Given the description of an element on the screen output the (x, y) to click on. 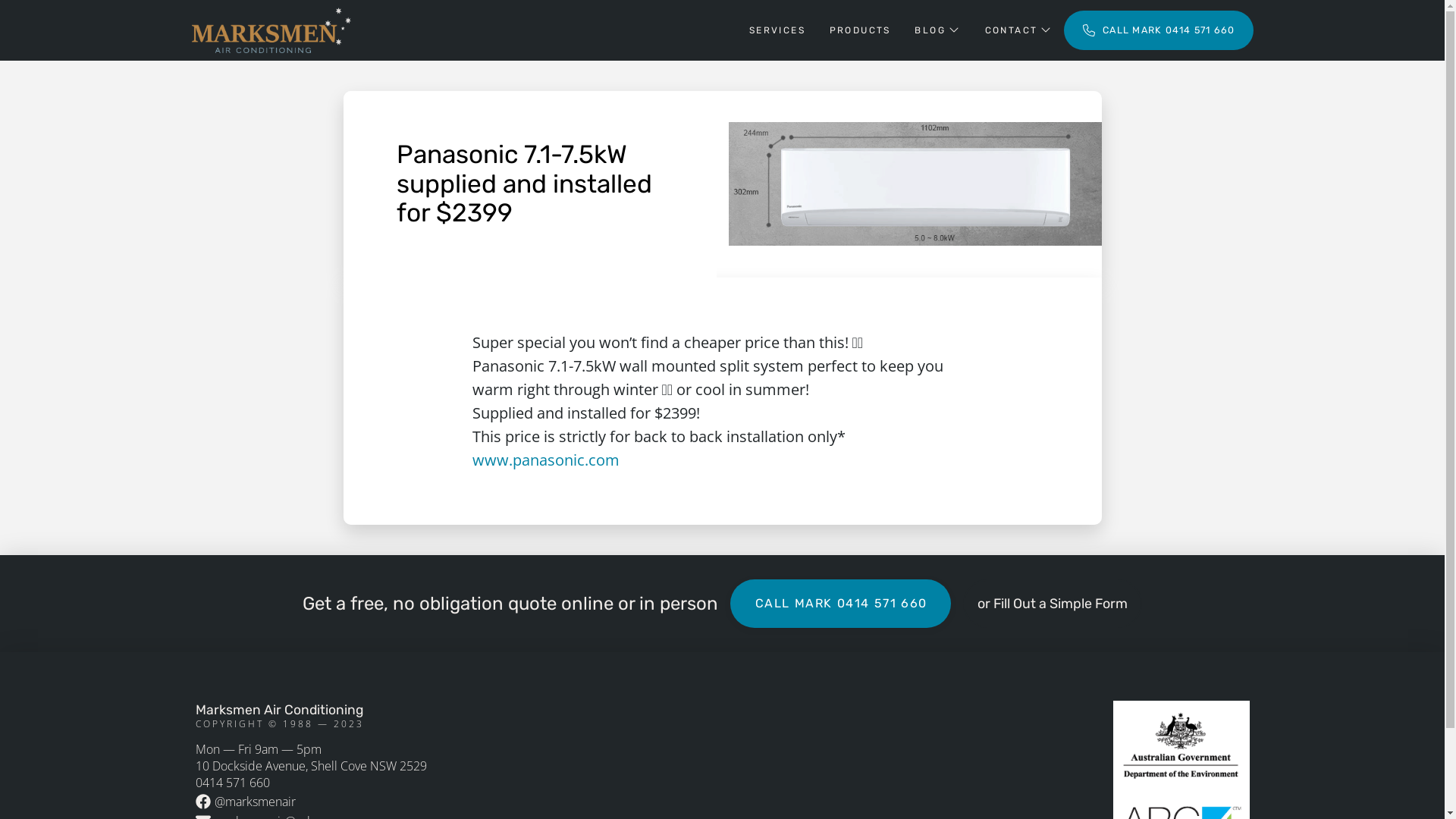
BLOG Element type: text (936, 30)
CALL MARK 0414 571 660 Element type: text (1157, 30)
PRODUCTS Element type: text (859, 30)
CONTACT Element type: text (1017, 30)
www.panasonic.com Element type: text (544, 459)
or Fill Out a Simple Form Element type: text (1052, 603)
CALL MARK 0414 571 660 Element type: text (840, 603)
@marksmenair Element type: text (247, 801)
SERVICES Element type: text (776, 30)
